Given the description of an element on the screen output the (x, y) to click on. 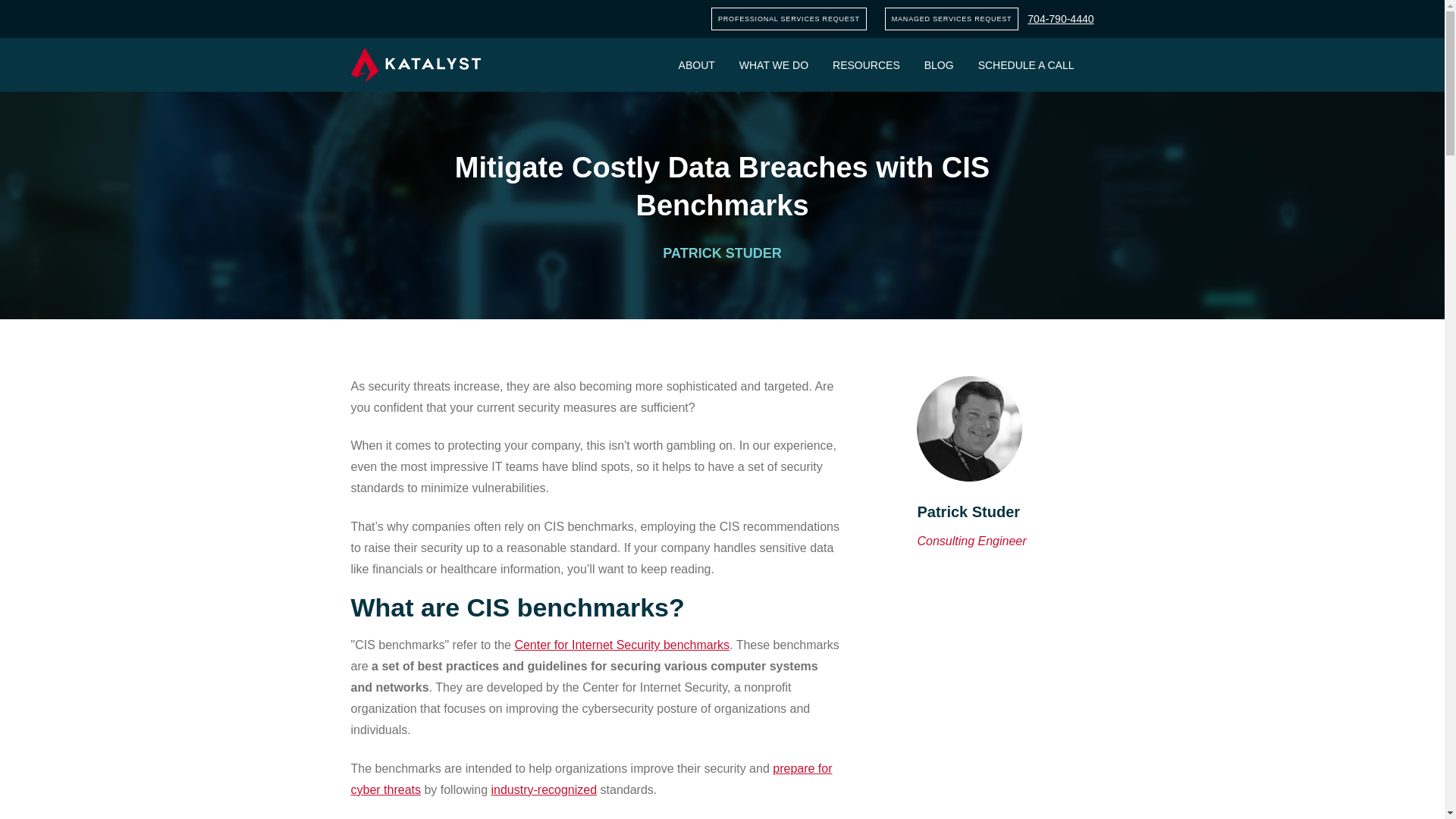
industry-recognized (543, 789)
prepare for cyber threats (590, 779)
SCHEDULE A CALL (1026, 64)
PROFESSIONAL SERVICES REQUEST (788, 18)
WHAT WE DO (773, 64)
MANAGED SERVICES REQUEST (952, 18)
ABOUT (696, 64)
704-790-4440 (1060, 19)
Center for Internet Security benchmarks (621, 644)
BLOG (938, 64)
